Given the description of an element on the screen output the (x, y) to click on. 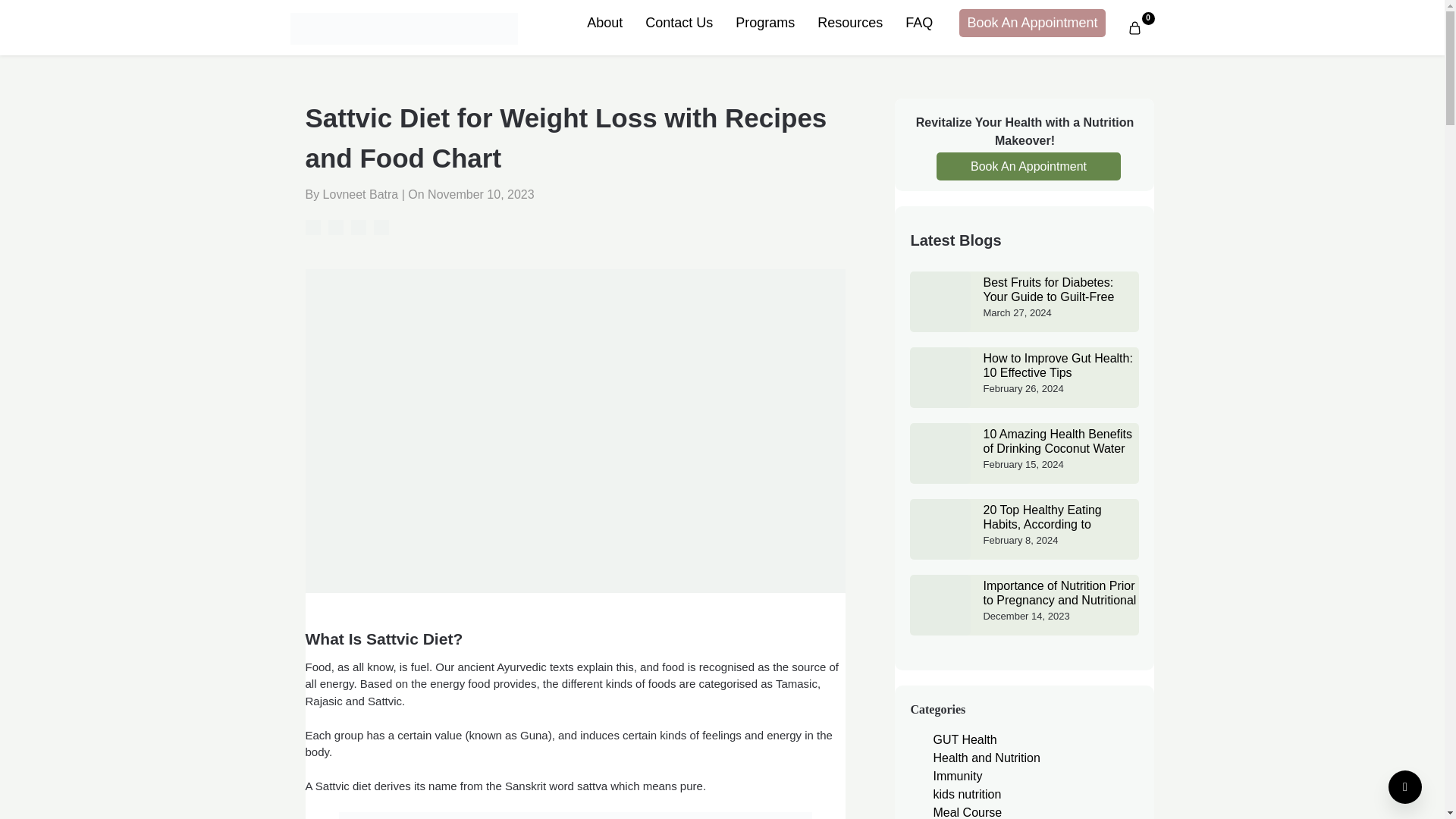
About (604, 22)
FAQ (918, 22)
Resources (849, 22)
Programs (764, 22)
0 (1133, 27)
November 10, 2023 (481, 194)
Contact Us (678, 22)
Book An Appointment (1032, 22)
